Given the description of an element on the screen output the (x, y) to click on. 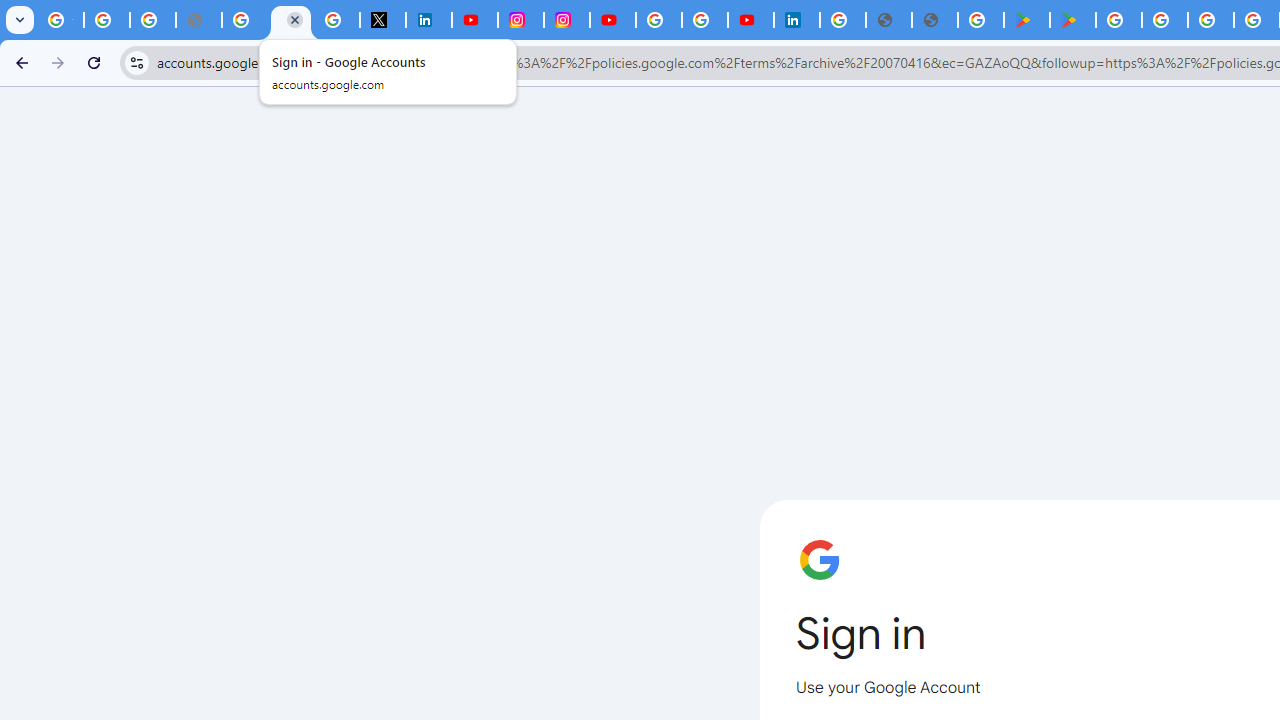
Sign in - Google Accounts (659, 20)
PAW Patrol Rescue World - Apps on Google Play (1072, 20)
Privacy Help Center - Policies Help (244, 20)
support.google.com - Network error (198, 20)
Sign in - Google Accounts (843, 20)
